Given the description of an element on the screen output the (x, y) to click on. 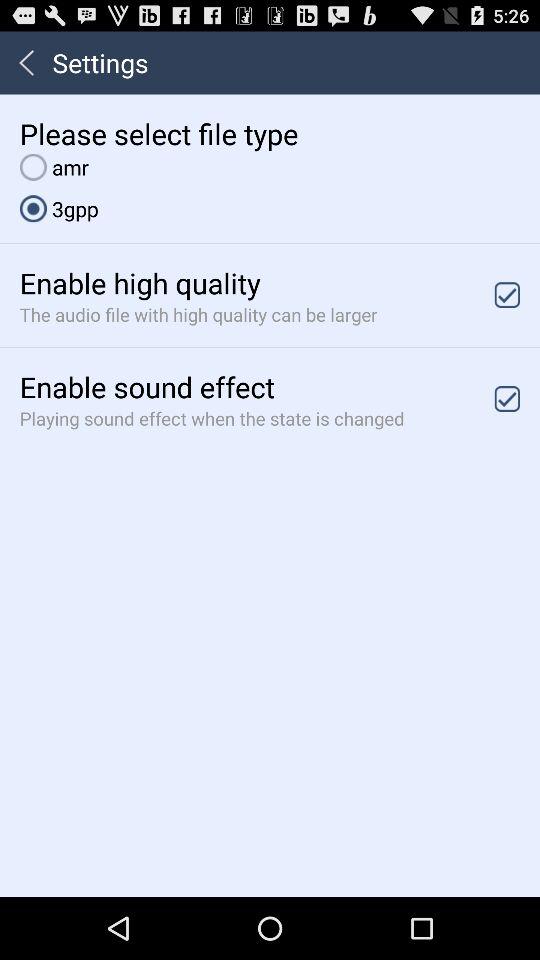
go to previous page (26, 62)
